Given the description of an element on the screen output the (x, y) to click on. 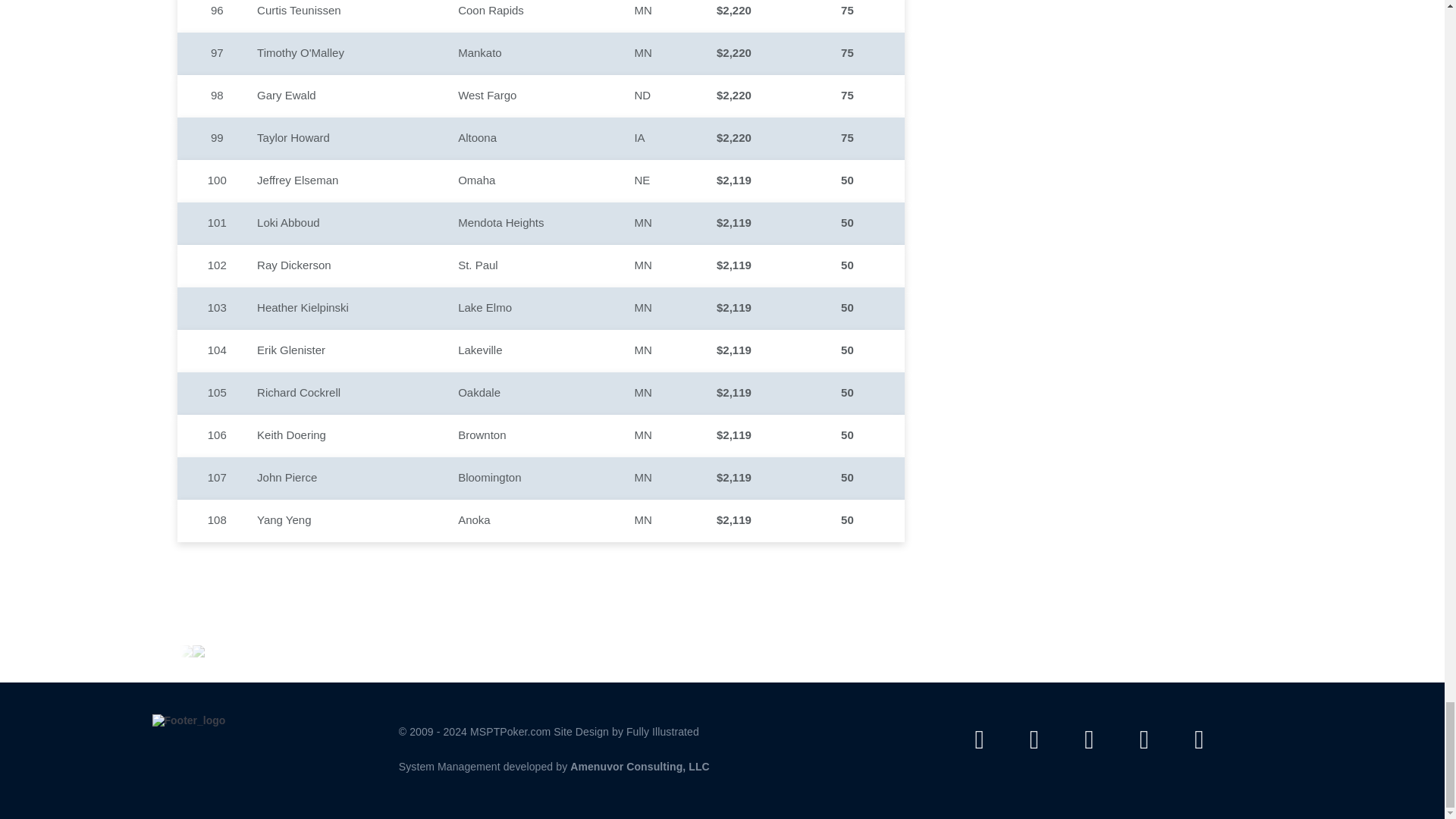
Grand Falls (186, 651)
Firekeepers (198, 651)
